Given the description of an element on the screen output the (x, y) to click on. 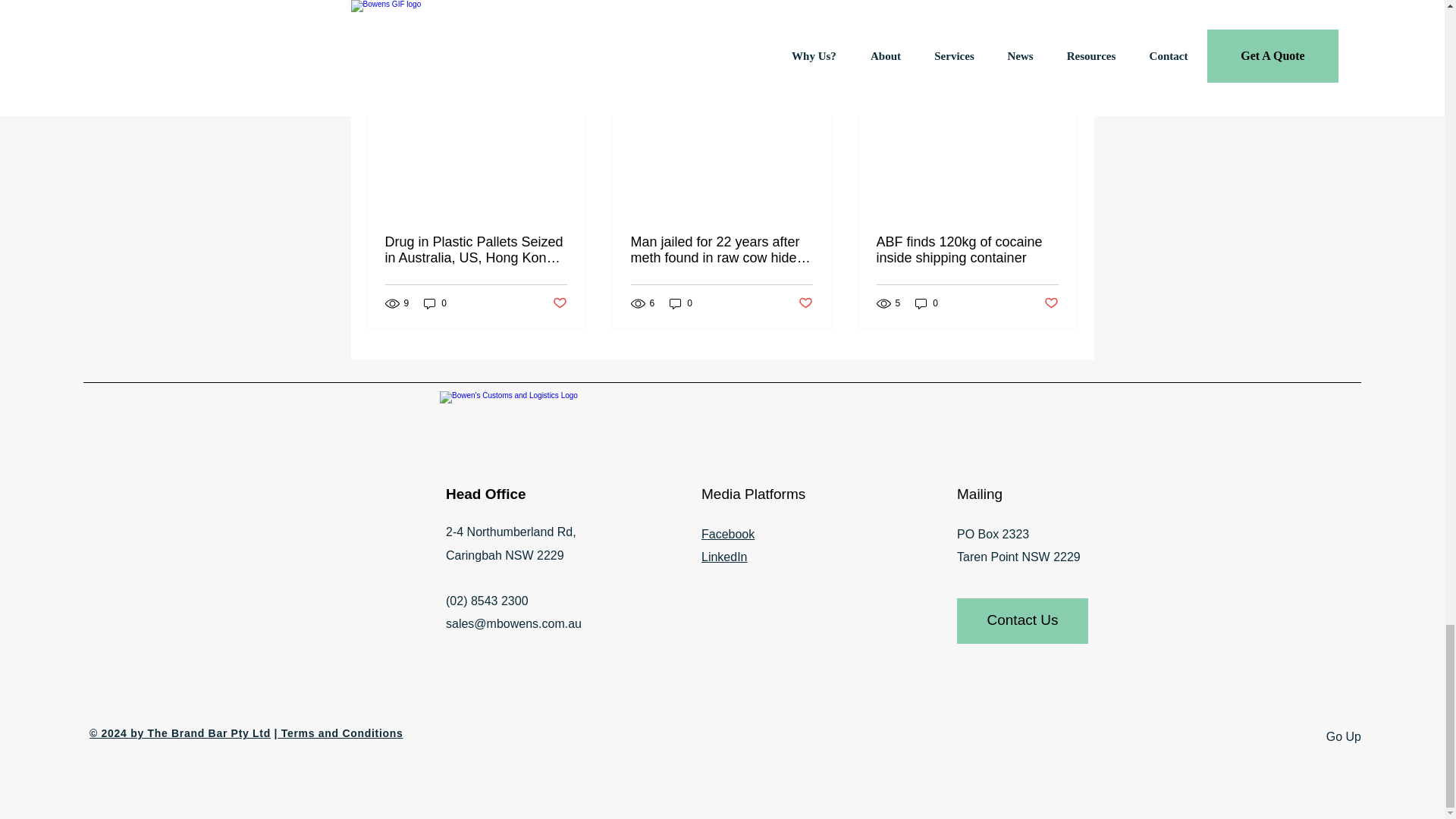
Post not marked as liked (558, 303)
0 (435, 303)
See All (1061, 65)
